Given the description of an element on the screen output the (x, y) to click on. 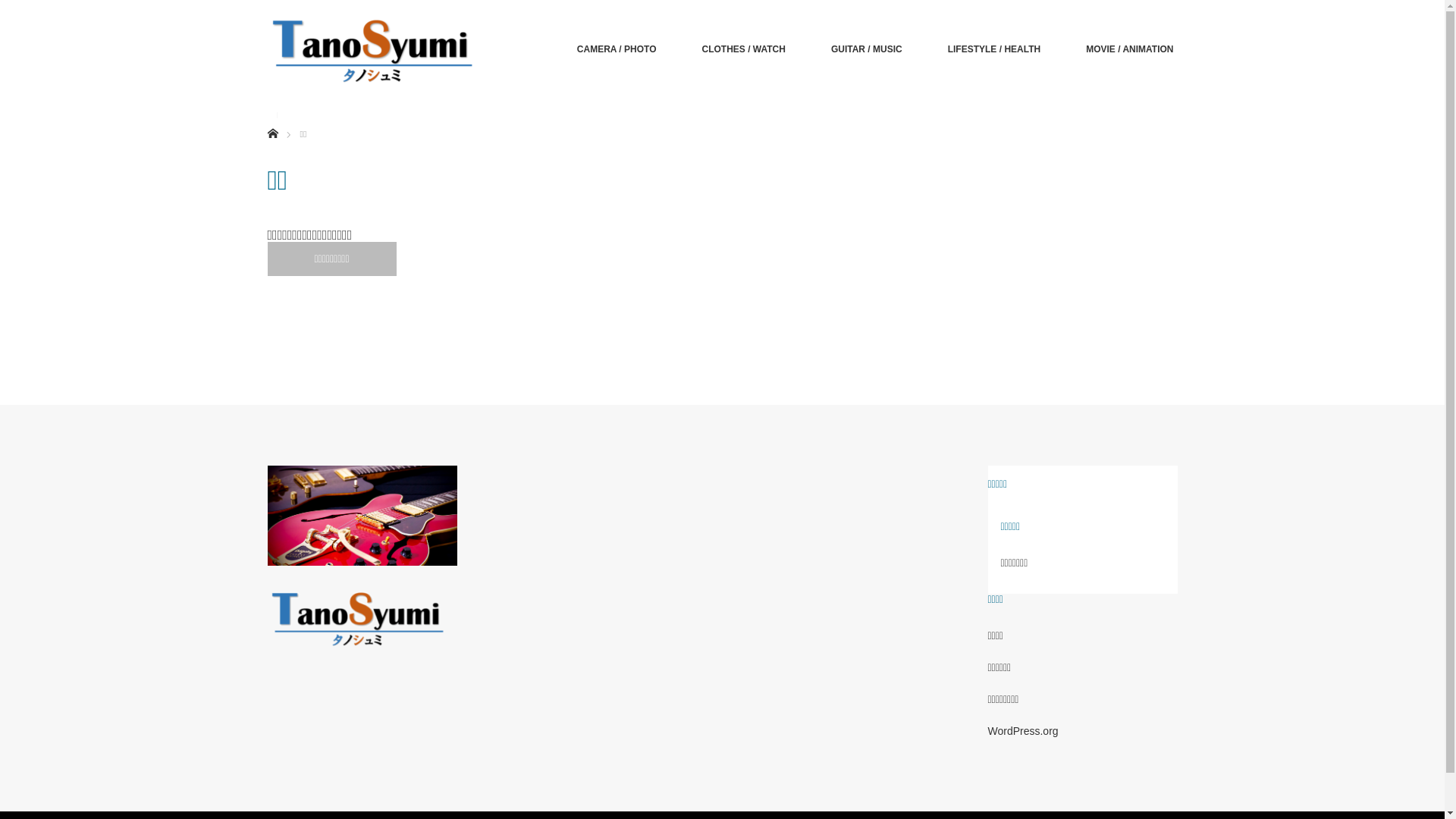
CLOTHES / WATCH Element type: text (742, 49)
LIFESTYLE / HEALTH Element type: text (994, 49)
WordPress.org Element type: text (1022, 730)
GUITAR / MUSIC Element type: text (866, 49)
TanoSyumi Element type: hover (376, 48)
CAMERA / PHOTO Element type: text (616, 49)
MOVIE / ANIMATION Element type: text (1129, 49)
TanoSyumi Element type: hover (361, 617)
